Given the description of an element on the screen output the (x, y) to click on. 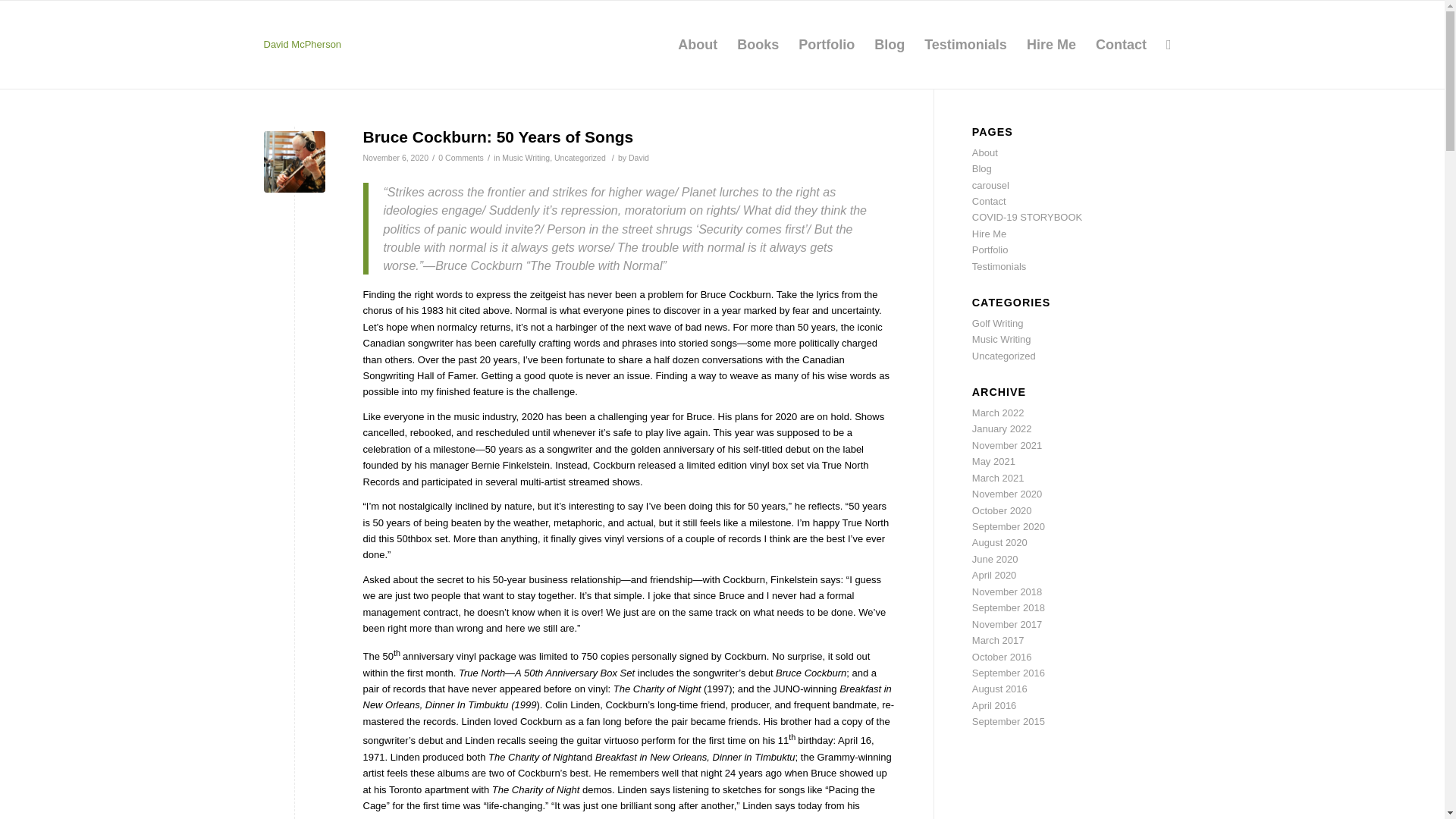
May 2021 (993, 460)
carousel (990, 184)
0 Comments (460, 157)
About (984, 152)
David (638, 157)
Testimonials (965, 44)
January 2022 (1002, 428)
Bruce-Cockburn-By-Daniel-Keebler-1600-x-900-1536x864-1 (293, 161)
Contact (989, 201)
Testimonials (999, 266)
March 2022 (998, 412)
November 2021 (1007, 445)
Portfolio (990, 249)
March 2021 (998, 478)
November 2020 (1007, 493)
